Given the description of an element on the screen output the (x, y) to click on. 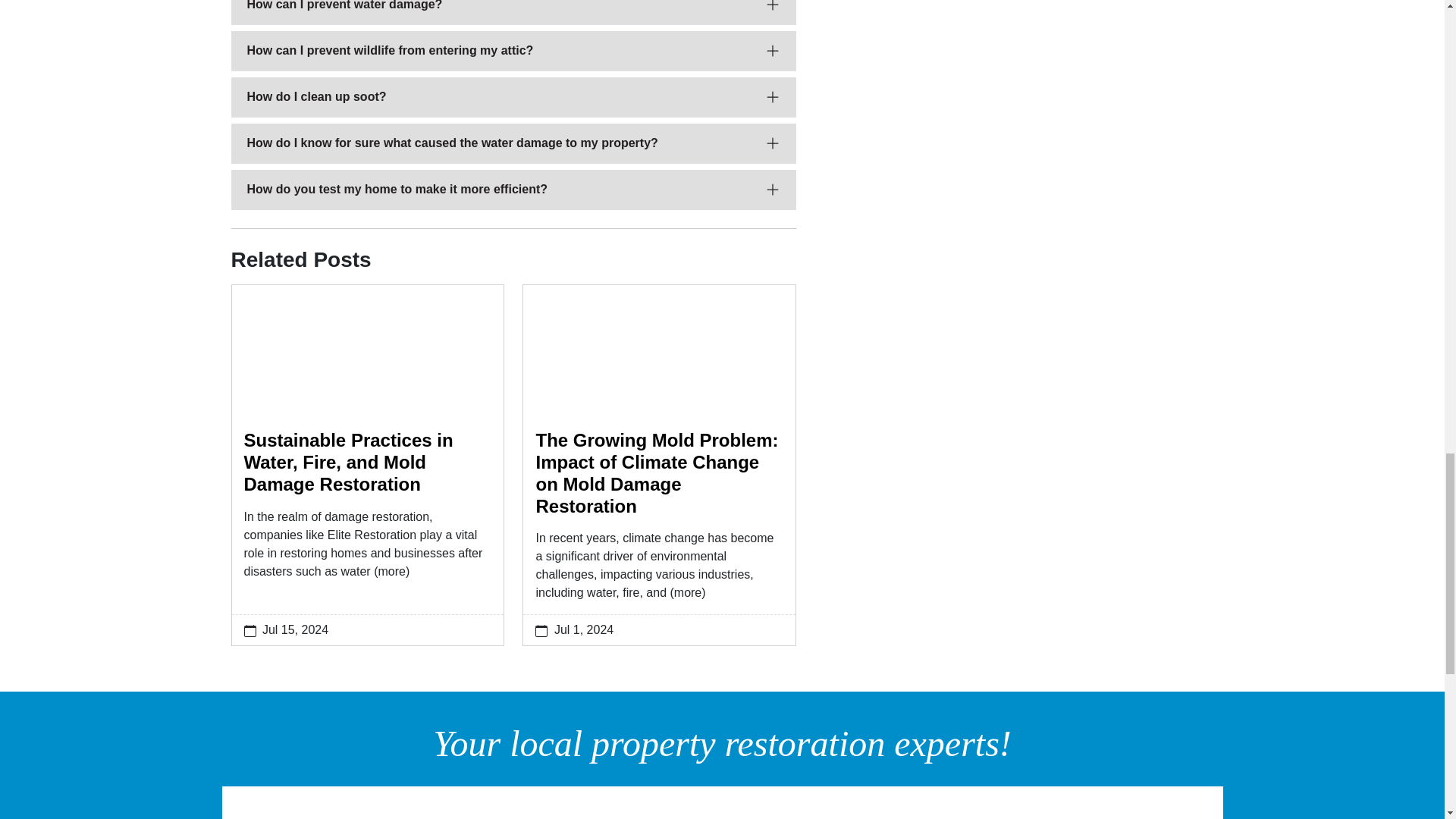
How can I prevent wildlife from entering my attic? (513, 50)
How do you test my home to make it more efficient? (513, 189)
How can I prevent water damage? (513, 12)
How do I clean up soot? (513, 96)
